Given the description of an element on the screen output the (x, y) to click on. 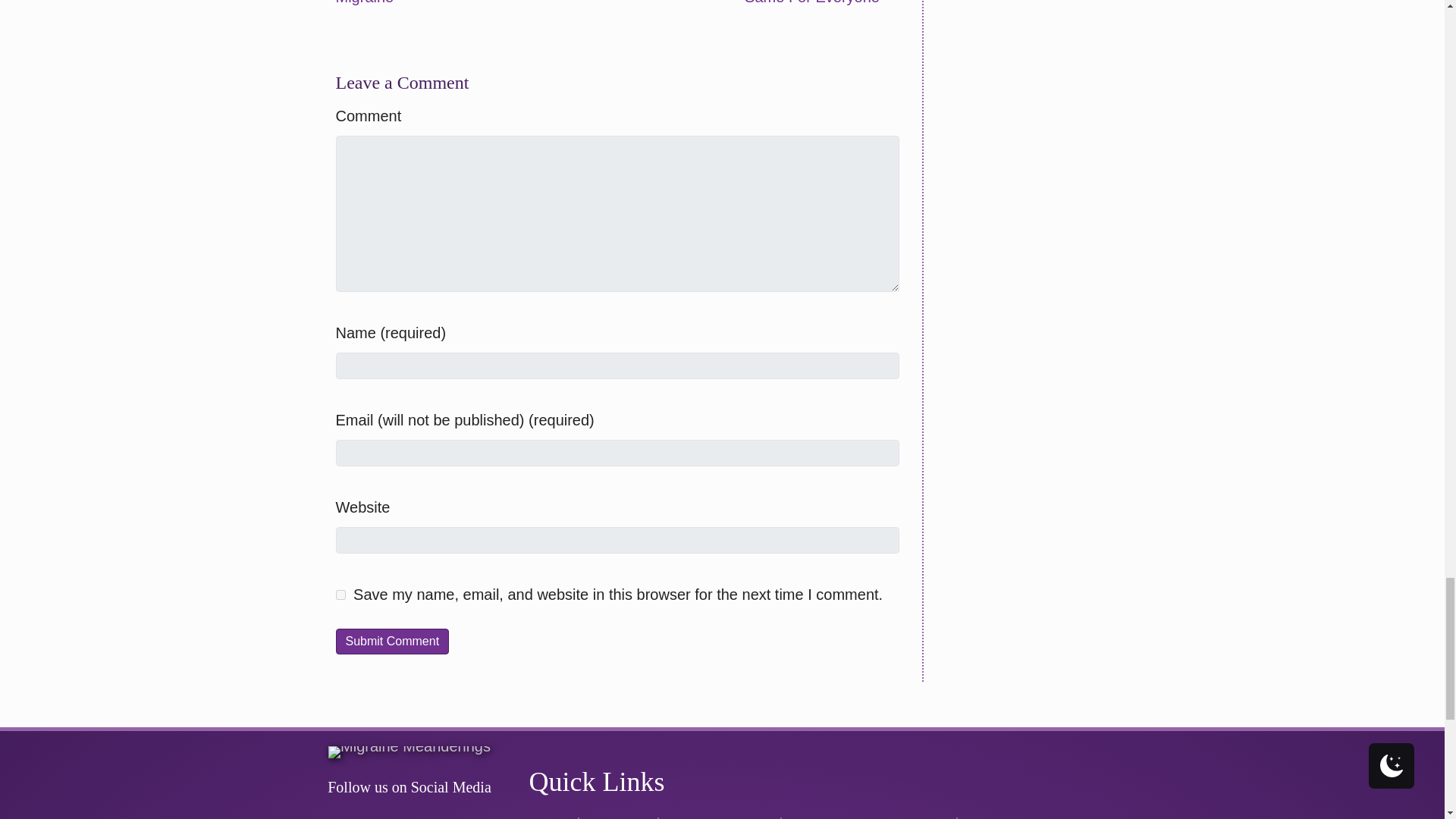
YouTube (469, 817)
Twitter (409, 817)
Pinterest (439, 817)
Instagram (379, 817)
yes (339, 594)
Submit Comment (391, 640)
Facebook (348, 817)
